Given the description of an element on the screen output the (x, y) to click on. 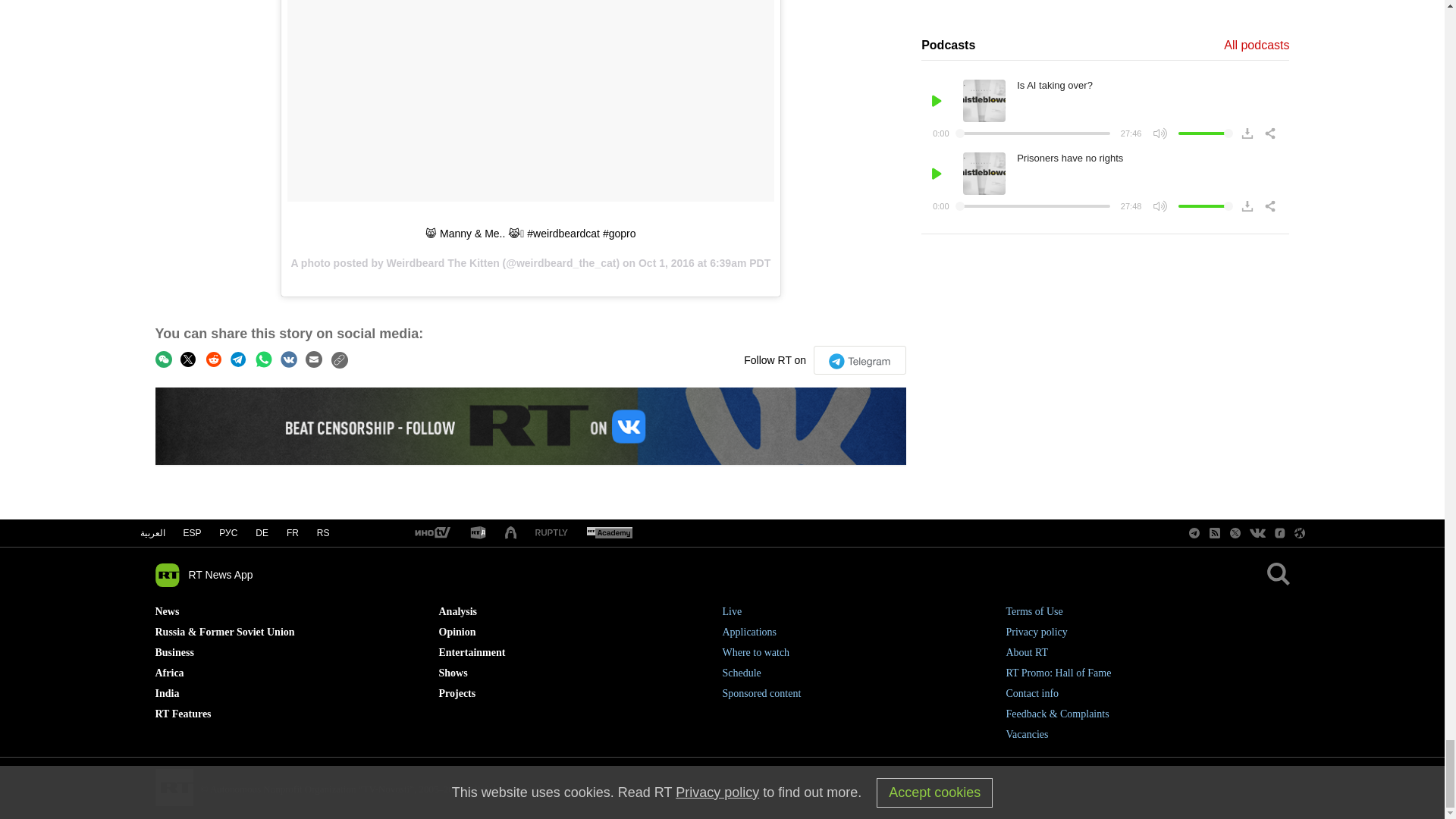
RT  (608, 533)
RT  (431, 533)
RT  (551, 533)
RT  (478, 533)
